Given the description of an element on the screen output the (x, y) to click on. 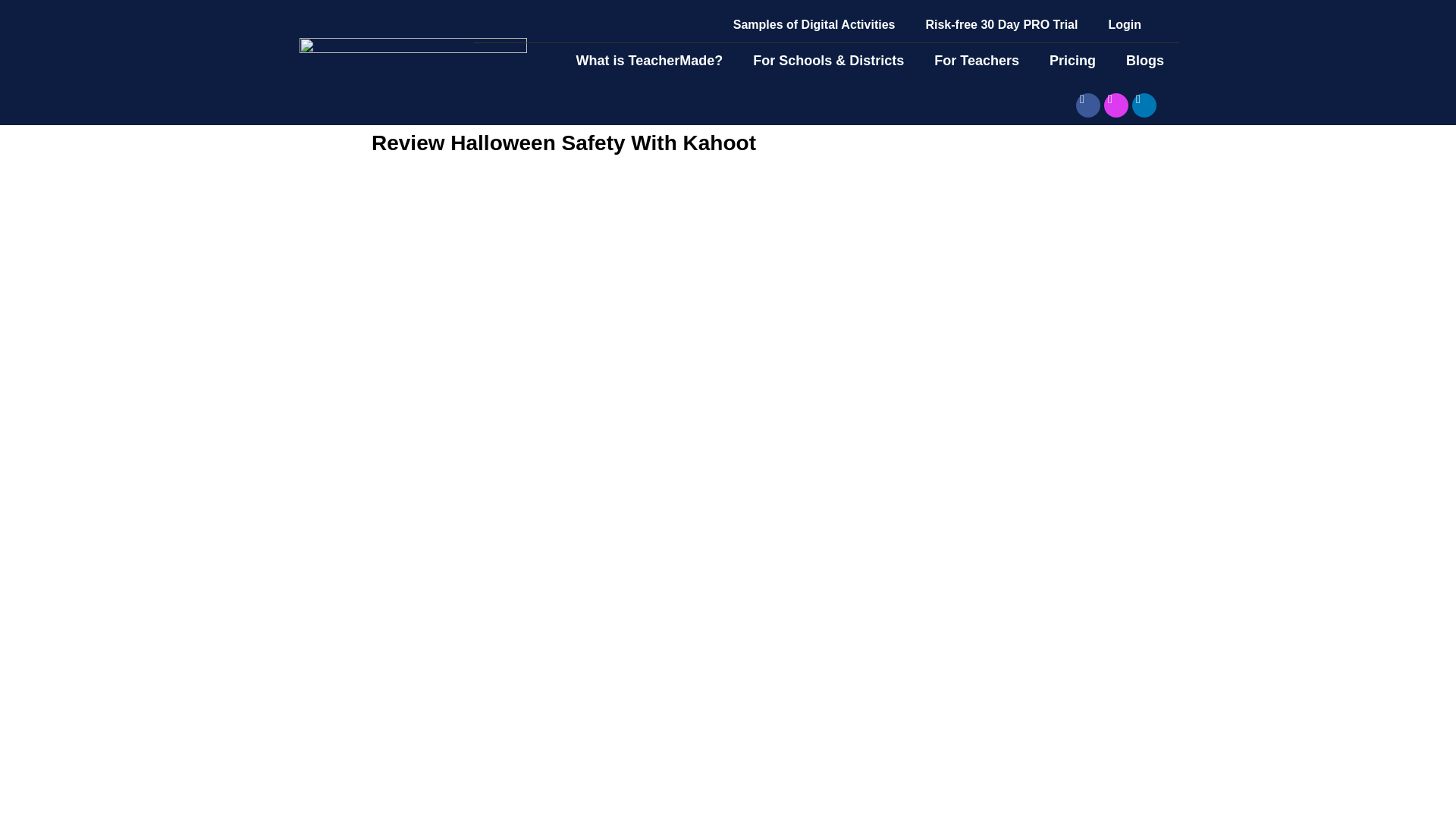
For Teachers (975, 60)
What is TeacherMade? (649, 60)
Samples of Digital Activities (814, 24)
Risk-free 30 Day PRO Trial (1001, 24)
Blogs (1144, 60)
Pricing (1071, 60)
Login (1124, 24)
